Given the description of an element on the screen output the (x, y) to click on. 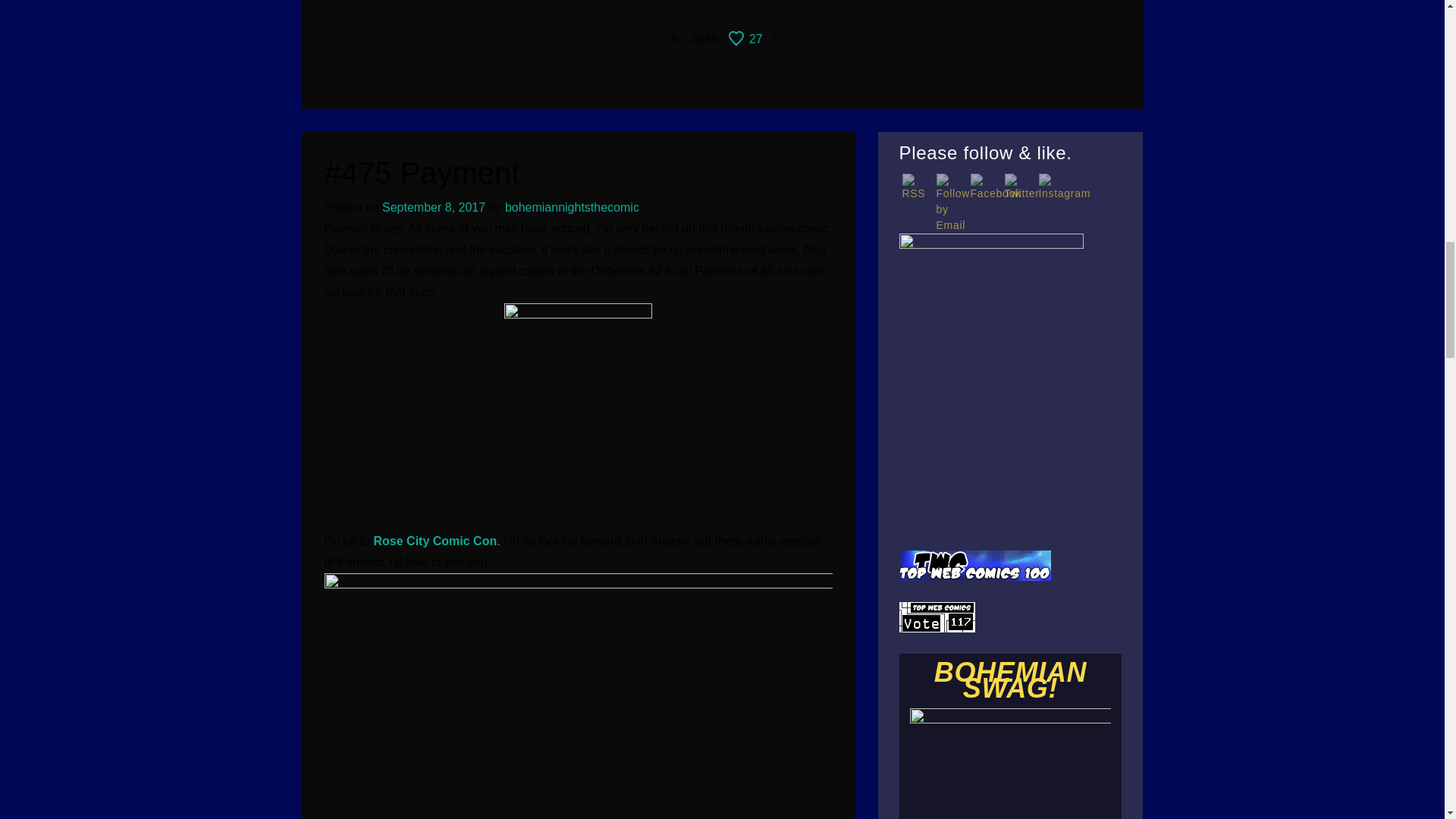
bohemiannightsthecomic (572, 206)
September 8, 2017 (432, 206)
Rose City Comic Con (435, 540)
